Given the description of an element on the screen output the (x, y) to click on. 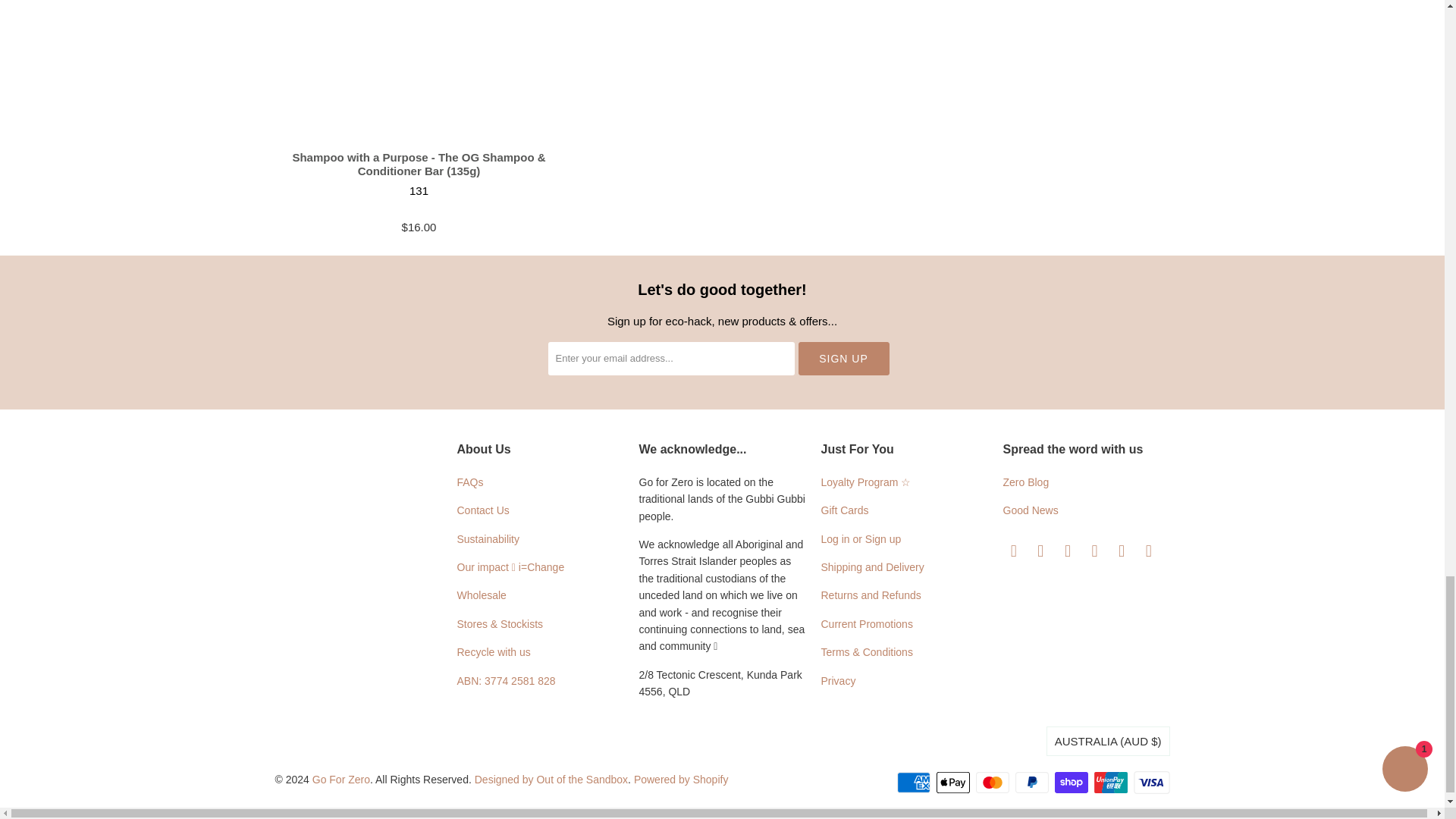
Mastercard (993, 782)
Sign Up (842, 358)
American Express (914, 782)
Visa (1150, 782)
PayPal (1032, 782)
Shop Pay (1072, 782)
Apple Pay (954, 782)
Union Pay (1112, 782)
